Given the description of an element on the screen output the (x, y) to click on. 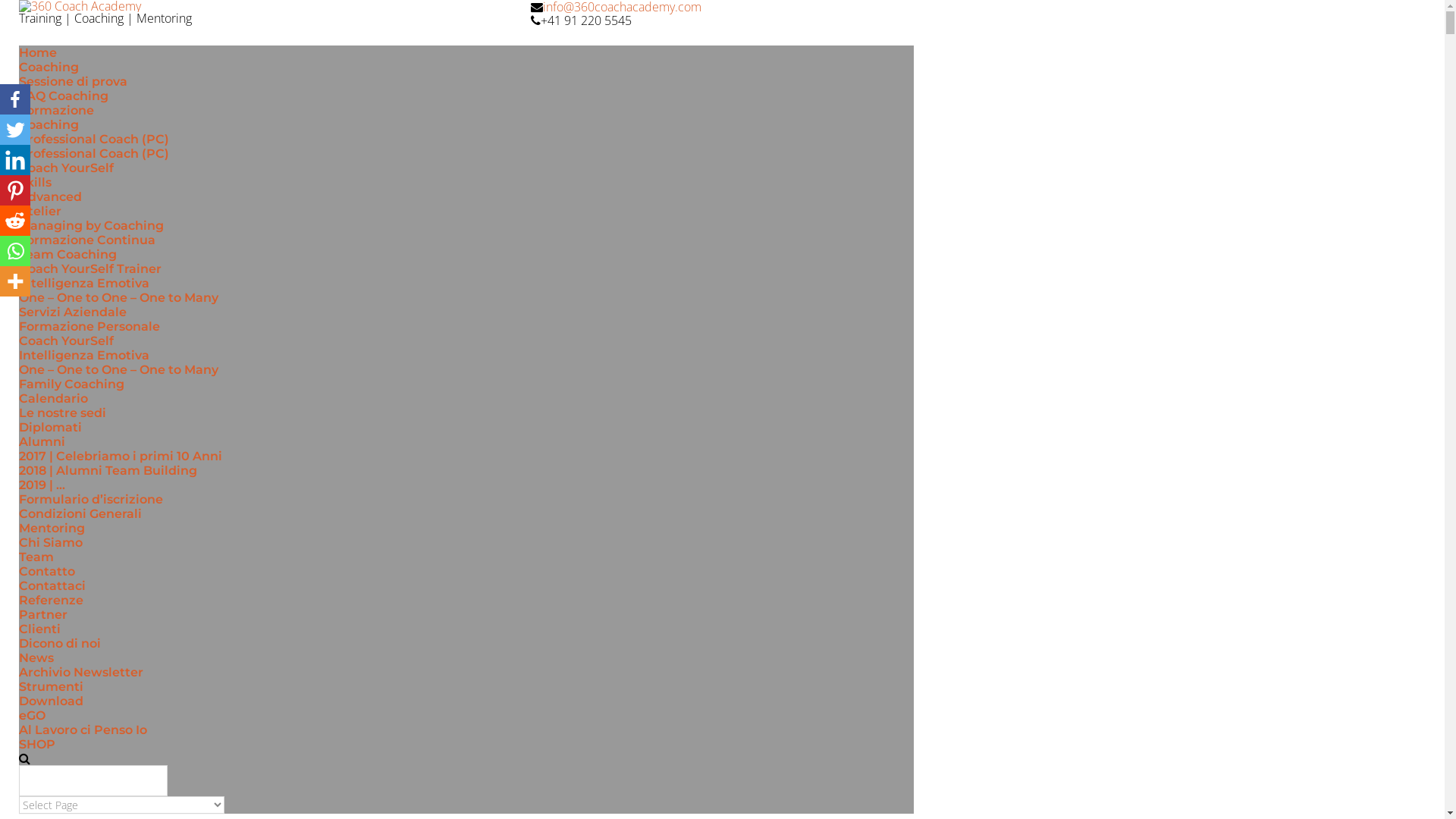
Skills Element type: text (34, 182)
Family Coaching Element type: text (71, 383)
Mentoring Element type: text (51, 527)
Pinterest Element type: hover (15, 190)
Chi Siamo Element type: text (50, 542)
Al Lavoro ci Penso Io Element type: text (82, 729)
Condizioni Generali Element type: text (79, 513)
Intelligenza Emotiva Element type: text (83, 355)
Sessione di prova Element type: text (72, 81)
Coach YourSelf Element type: text (65, 167)
Strumenti Element type: text (50, 686)
Linkedin Element type: hover (15, 159)
More Element type: hover (15, 281)
Referenze Element type: text (50, 600)
Partner Element type: text (42, 614)
Atelier Element type: text (39, 210)
Coaching Element type: text (48, 124)
Formazione Element type: text (56, 110)
Advanced Element type: text (49, 196)
Clienti Element type: text (39, 628)
360 Coach Academy Element type: hover (266, 6)
eGO Element type: text (31, 715)
Formazione Continua Element type: text (86, 239)
Professional Coach (PC) Element type: text (93, 138)
Team Coaching Element type: text (67, 254)
Coach YourSelf Element type: text (65, 340)
SHOP Element type: text (36, 744)
Alumni Element type: text (41, 441)
Calendario Element type: text (52, 398)
News Element type: text (35, 657)
Coaching Element type: text (48, 66)
2018 | Alumni Team Building Element type: text (107, 470)
Diplomati Element type: text (49, 427)
Reddit Element type: hover (15, 220)
Contatto Element type: text (46, 571)
Intelligenza Emotiva Element type: text (83, 283)
Coach YourSelf Trainer Element type: text (89, 268)
Managing by Coaching Element type: text (90, 225)
Whatsapp Element type: hover (15, 250)
FAQ Coaching Element type: text (63, 95)
Servizi Aziendale Element type: text (72, 311)
Archivio Newsletter Element type: text (80, 672)
Home Element type: text (37, 52)
Facebook Element type: hover (15, 99)
Formazione Personale Element type: text (89, 326)
Download Element type: text (50, 700)
Twitter Element type: hover (15, 129)
2017 | Celebriamo i primi 10 Anni Element type: text (120, 455)
Team Element type: text (35, 556)
Professional Coach (PC) Element type: text (93, 153)
Dicono di noi Element type: text (59, 643)
Contattaci Element type: text (51, 585)
Le nostre sedi Element type: text (62, 412)
